Given the description of an element on the screen output the (x, y) to click on. 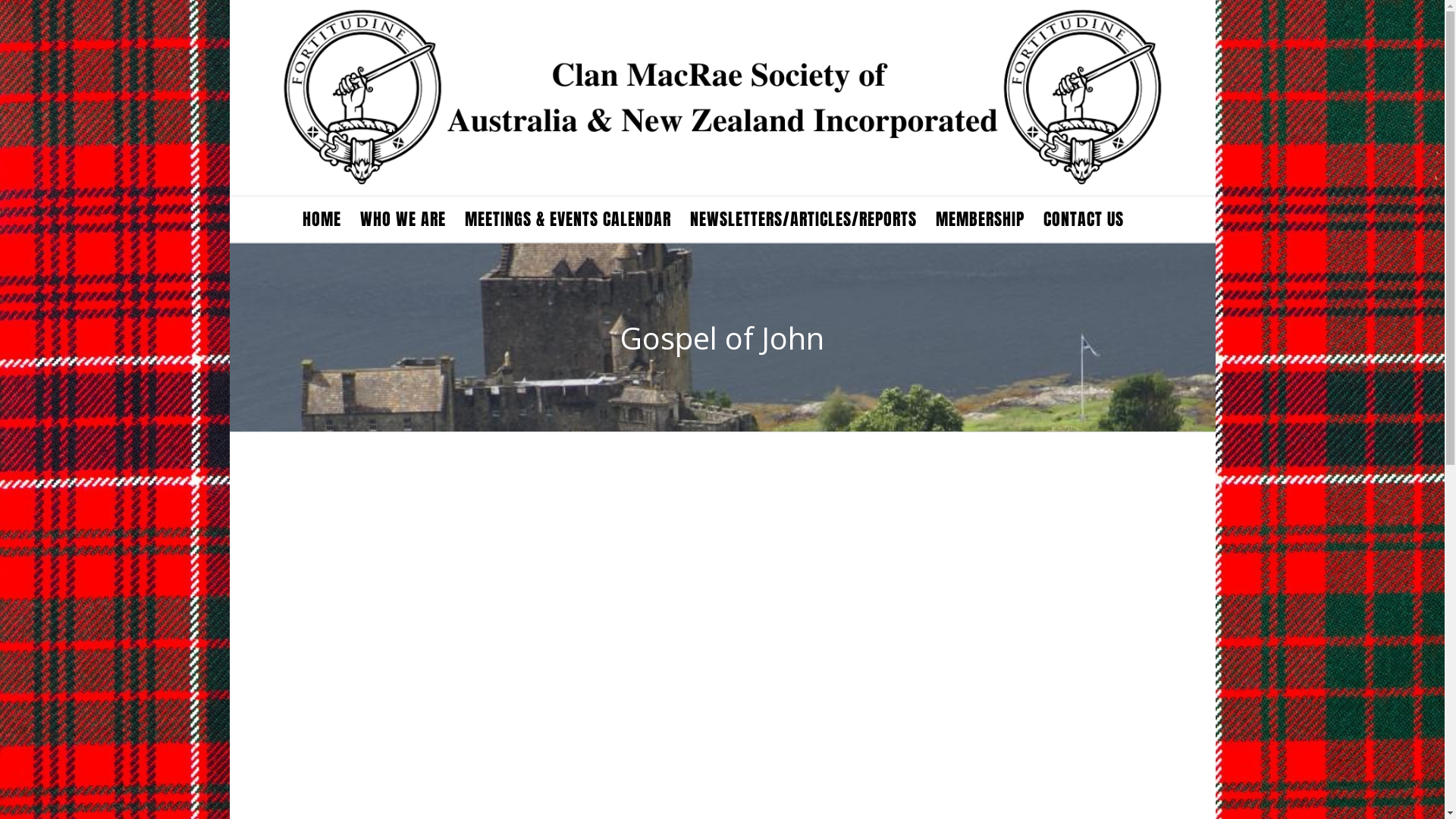
MEMBERSHIP Element type: text (979, 218)
WHO WE ARE Element type: text (402, 218)
MEETINGS & EVENTS CALENDAR Element type: text (567, 218)
NEWSLETTERS/ARTICLES/REPORTS Element type: text (803, 218)
HOME Element type: text (320, 218)
CONTACT US Element type: text (1083, 218)
